Given the description of an element on the screen output the (x, y) to click on. 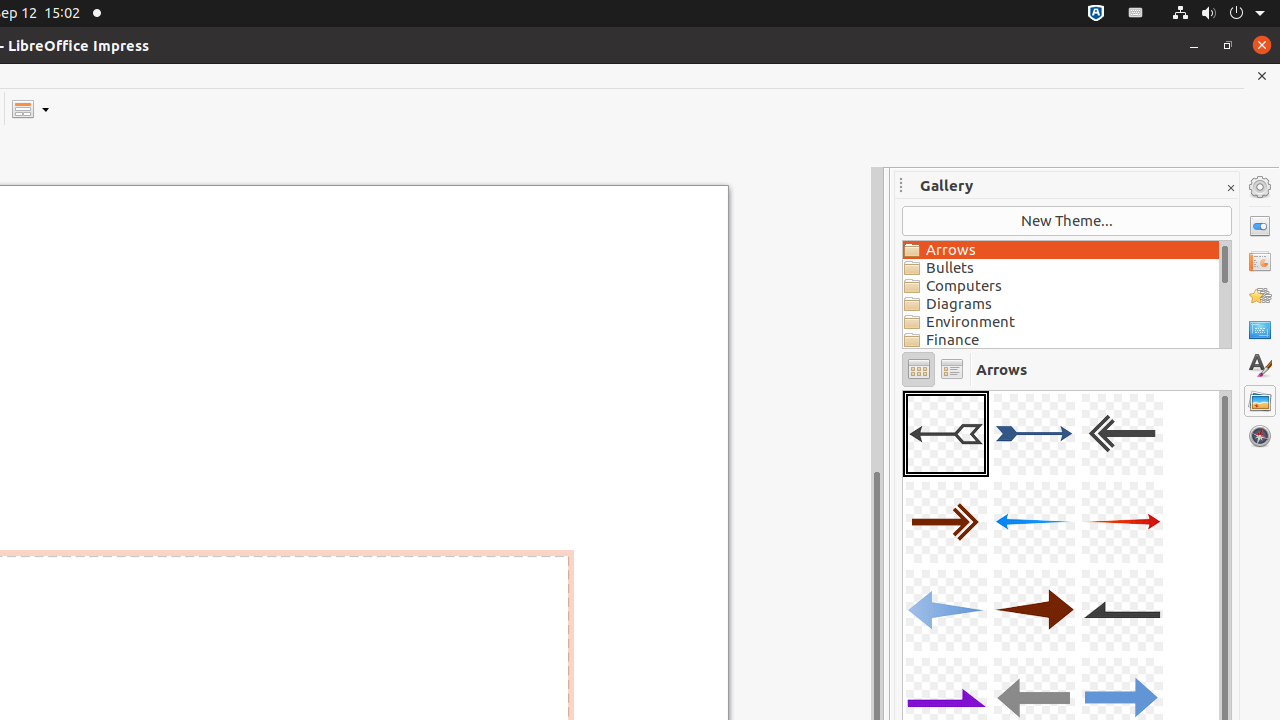
Computers Element type: list-item (1061, 286)
Animation Element type: radio-button (1260, 296)
